Given the description of an element on the screen output the (x, y) to click on. 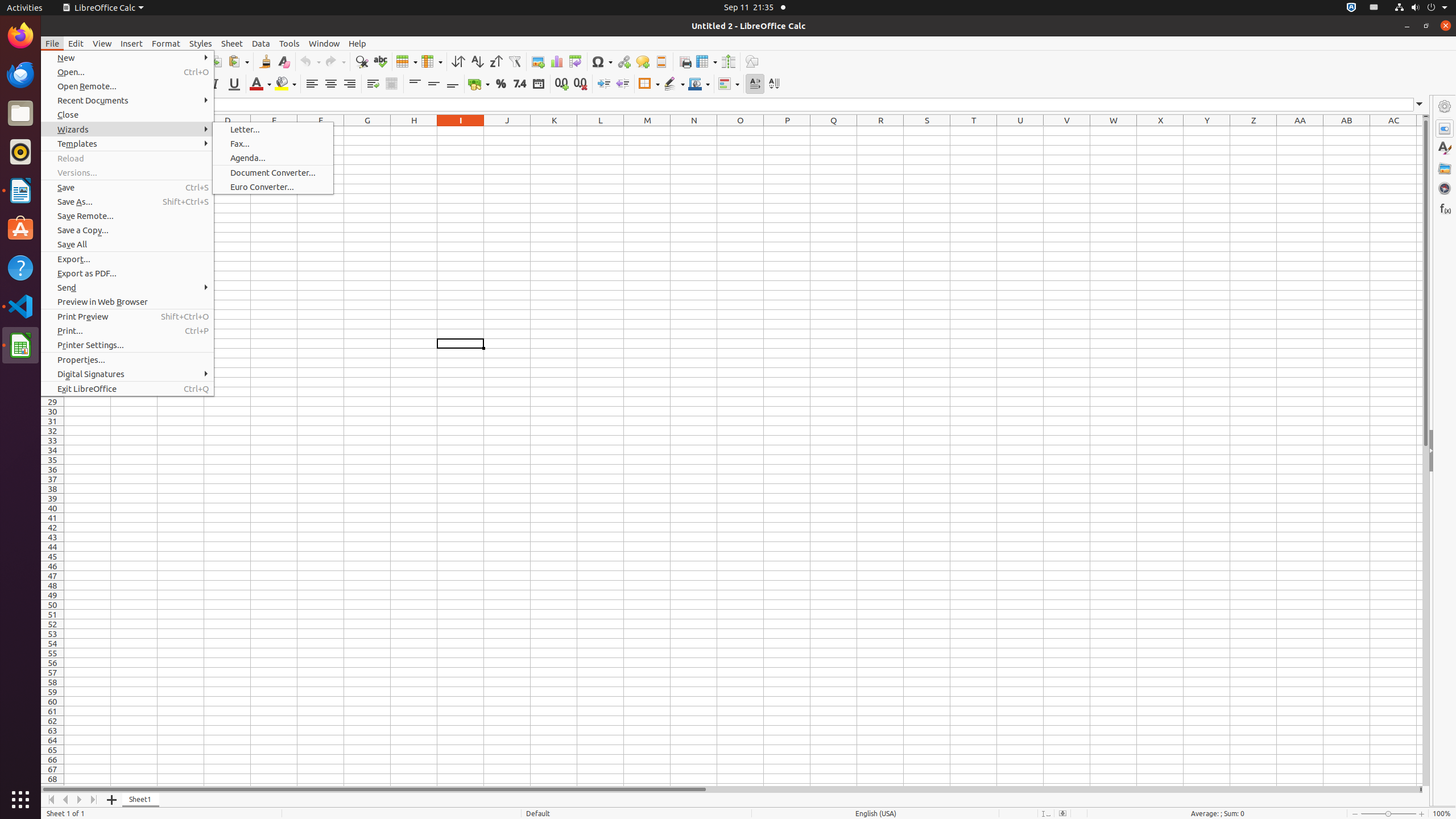
Paste Element type: push-button (237, 61)
Delete Decimal Place Element type: push-button (580, 83)
AutoFilter Element type: push-button (514, 61)
Symbol Element type: push-button (601, 61)
V1 Element type: table-cell (1066, 130)
